Given the description of an element on the screen output the (x, y) to click on. 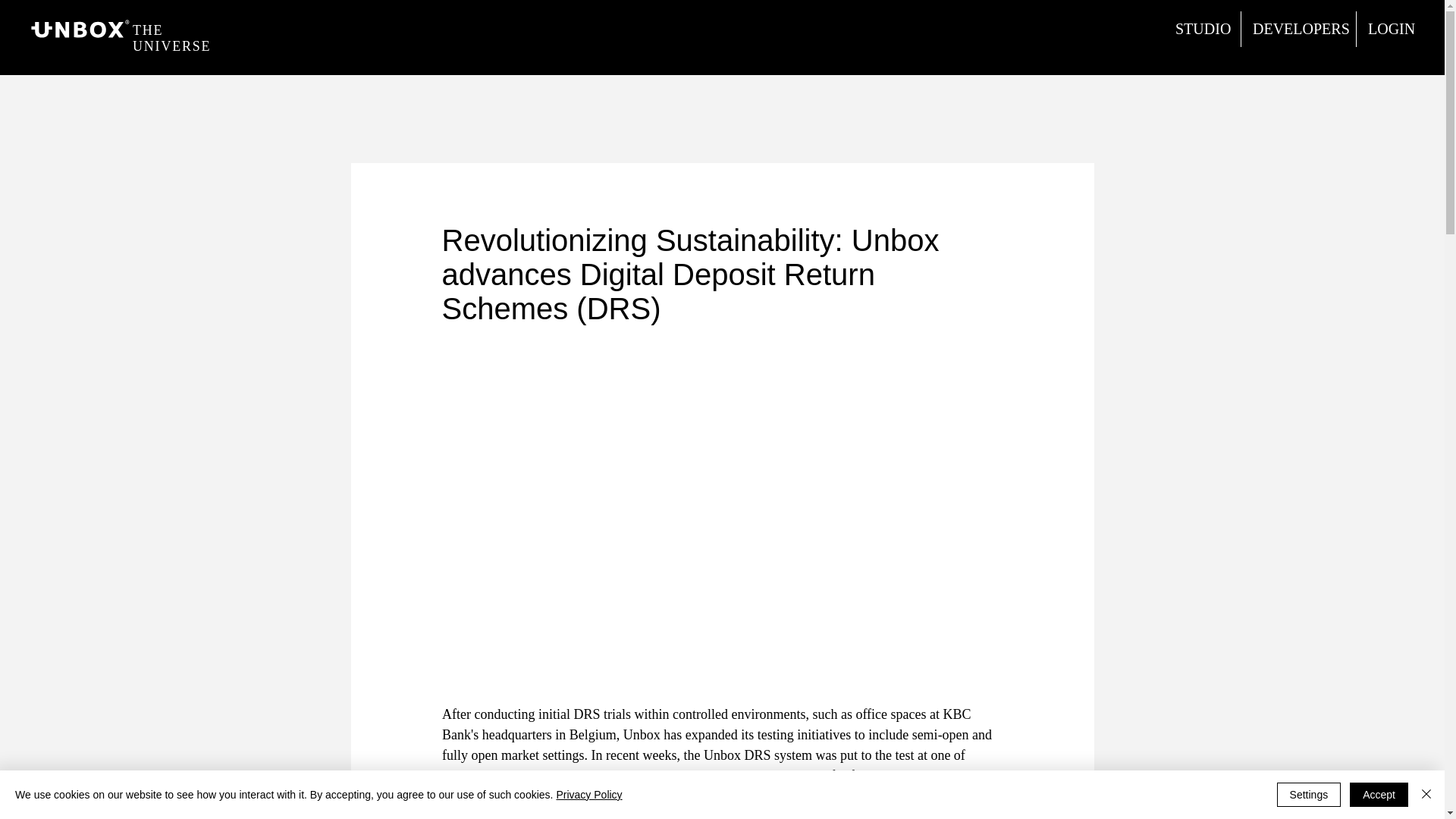
Settings (1308, 794)
LOGIN (1389, 28)
STUDIO (1201, 28)
DEVELOPERS (1298, 28)
Accept (1378, 794)
Privacy Policy (588, 794)
